Given the description of an element on the screen output the (x, y) to click on. 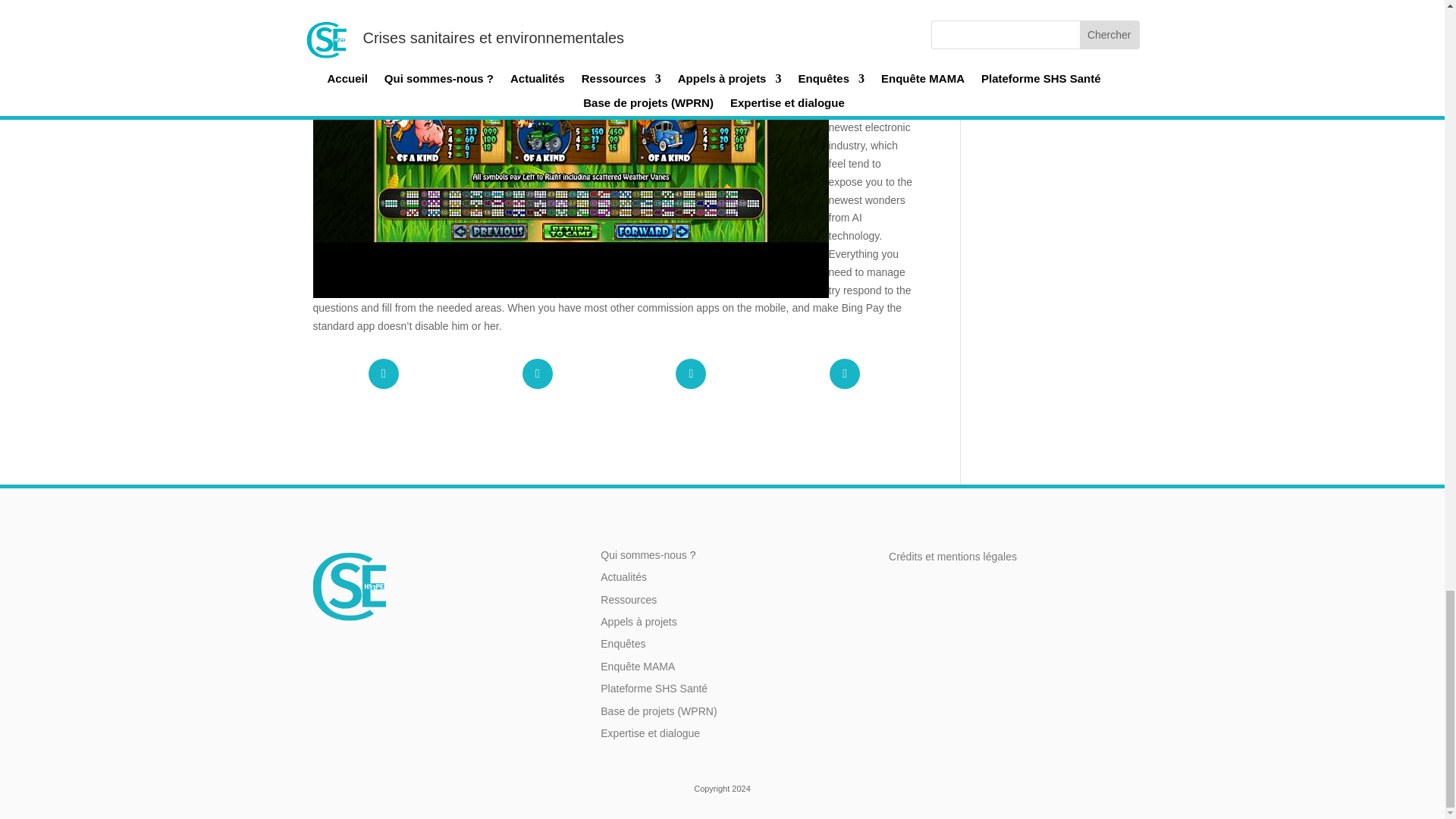
logoHS3PE (349, 585)
Qui somme nous ? (643, 554)
